Given the description of an element on the screen output the (x, y) to click on. 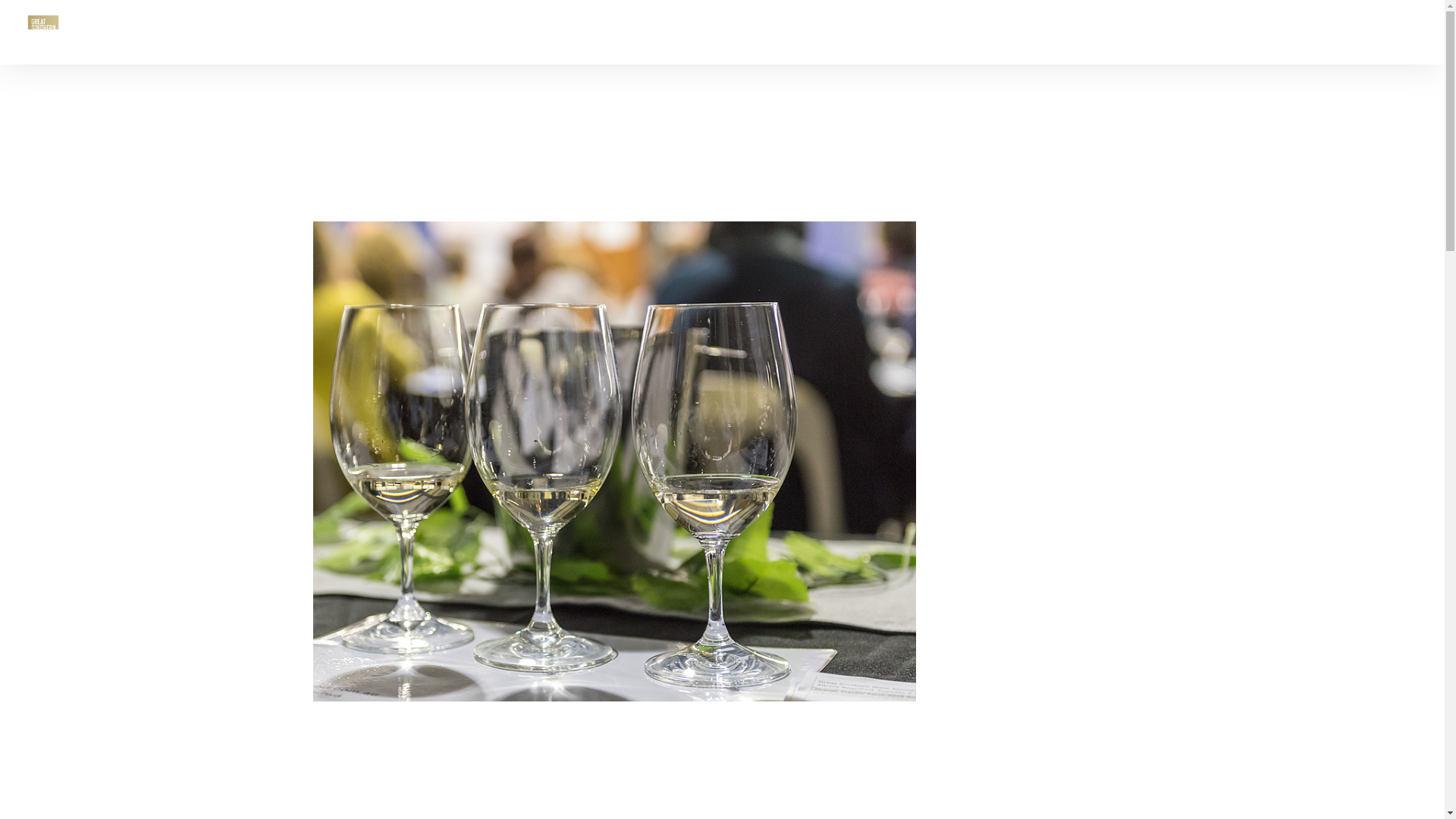
October 2023 (1016, 451)
November 2021 (1021, 592)
TASTE Great Southern 2023 (1051, 363)
NEWS (951, 44)
HOME (529, 44)
CONTACT (1287, 44)
November 2022 (1021, 475)
January 2022 (1016, 568)
VISIT (885, 44)
EVENTS (811, 44)
